Given the description of an element on the screen output the (x, y) to click on. 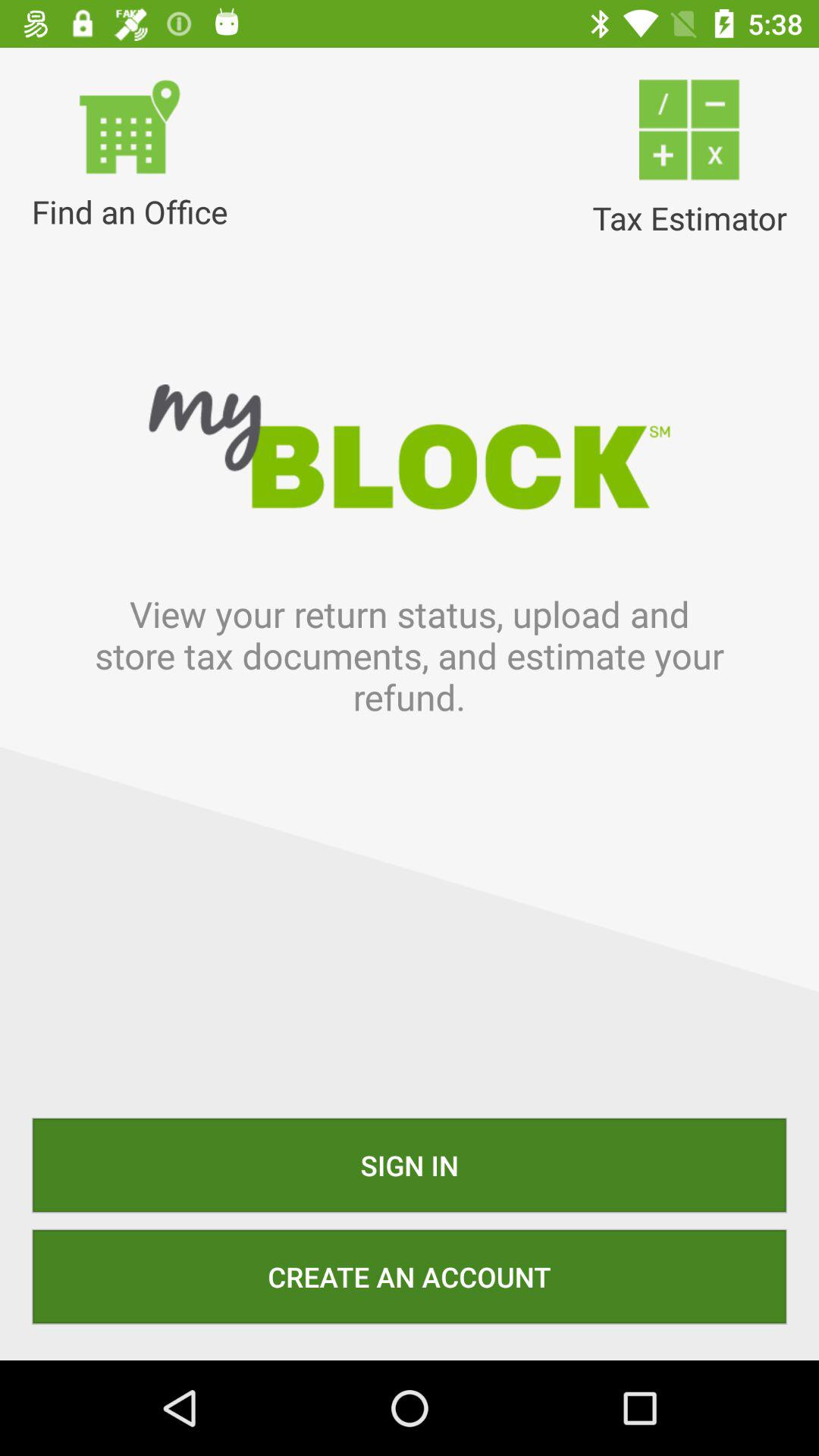
click create an account icon (409, 1276)
